Given the description of an element on the screen output the (x, y) to click on. 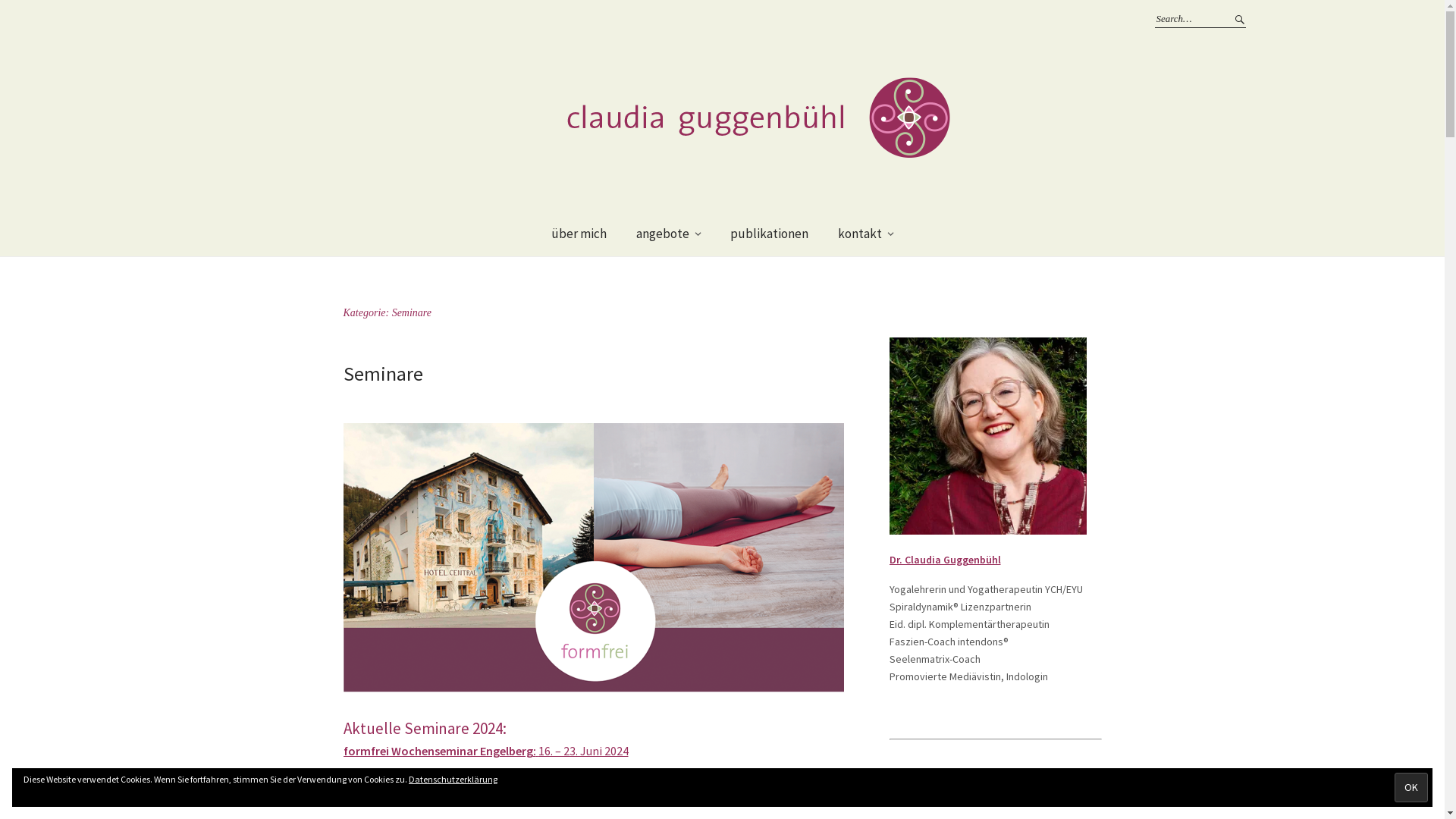
OK Element type: text (1410, 787)
formfrei Wochenseminar Engelberg Element type: text (437, 750)
angebote Element type: text (668, 233)
: Element type: text (534, 750)
Seminare Element type: text (382, 372)
publikationen Element type: text (769, 233)
Search Element type: text (1237, 18)
kontakt Element type: text (865, 233)
